Given the description of an element on the screen output the (x, y) to click on. 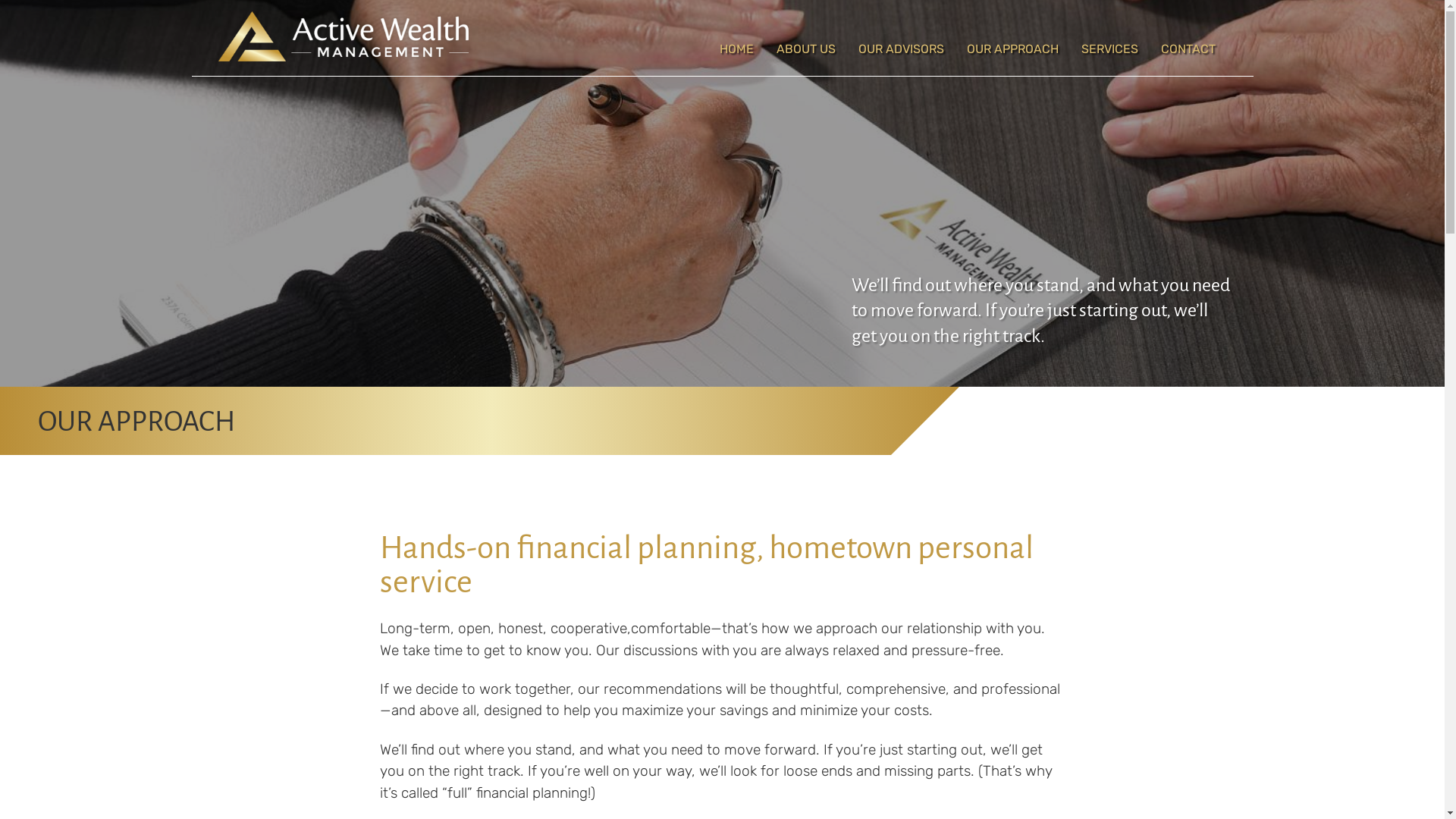
CONTACT Element type: text (1187, 49)
OUR APPROACH Element type: text (1012, 49)
ABOUT US Element type: text (805, 49)
SERVICES Element type: text (1108, 49)
OUR ADVISORS Element type: text (900, 49)
HOME Element type: text (736, 49)
